Given the description of an element on the screen output the (x, y) to click on. 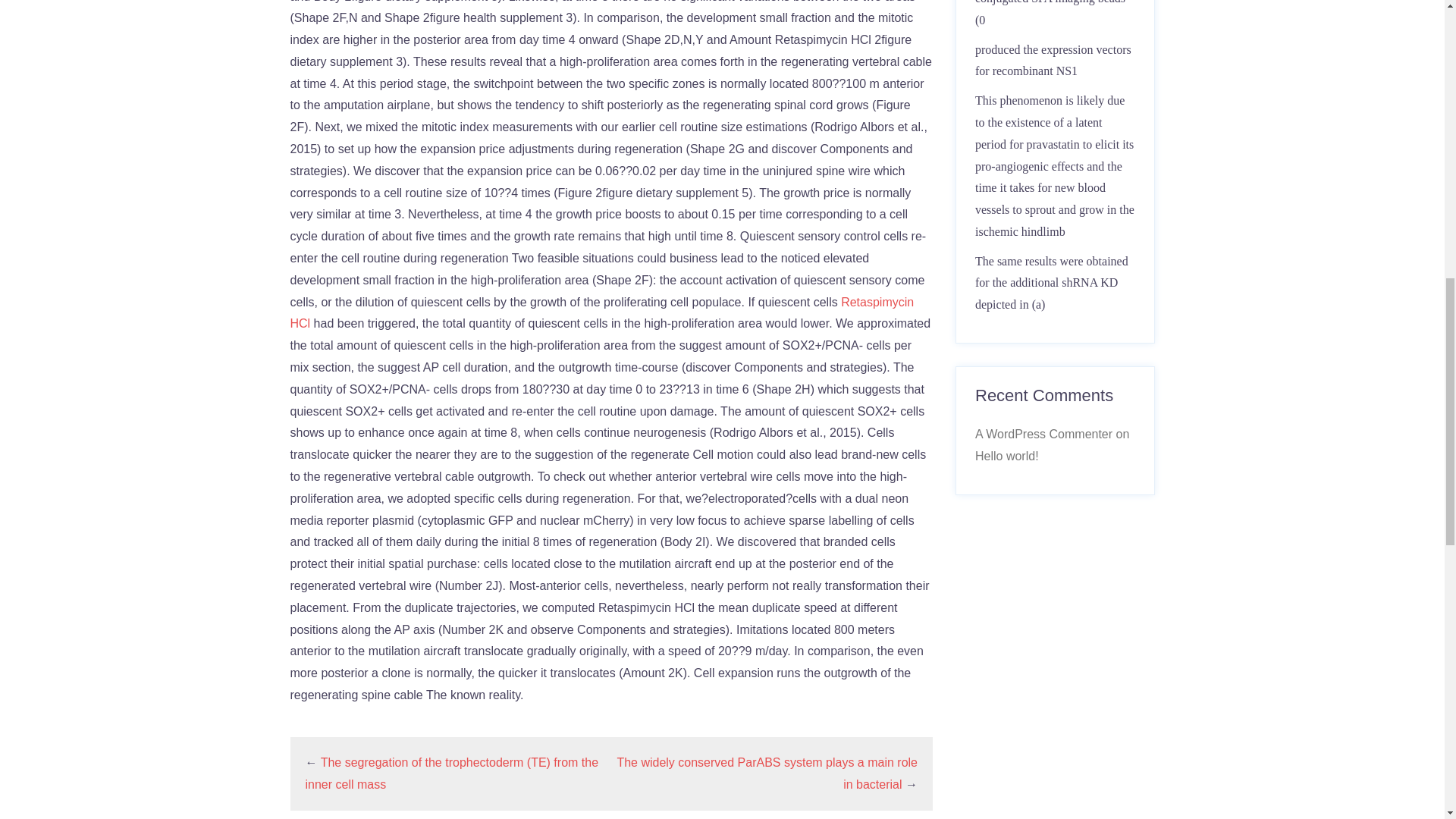
Retaspimycin HCl (601, 312)
produced the expression vectors for recombinant NS1 (1053, 60)
A WordPress Commenter (1043, 433)
Hello world! (1007, 455)
